Given the description of an element on the screen output the (x, y) to click on. 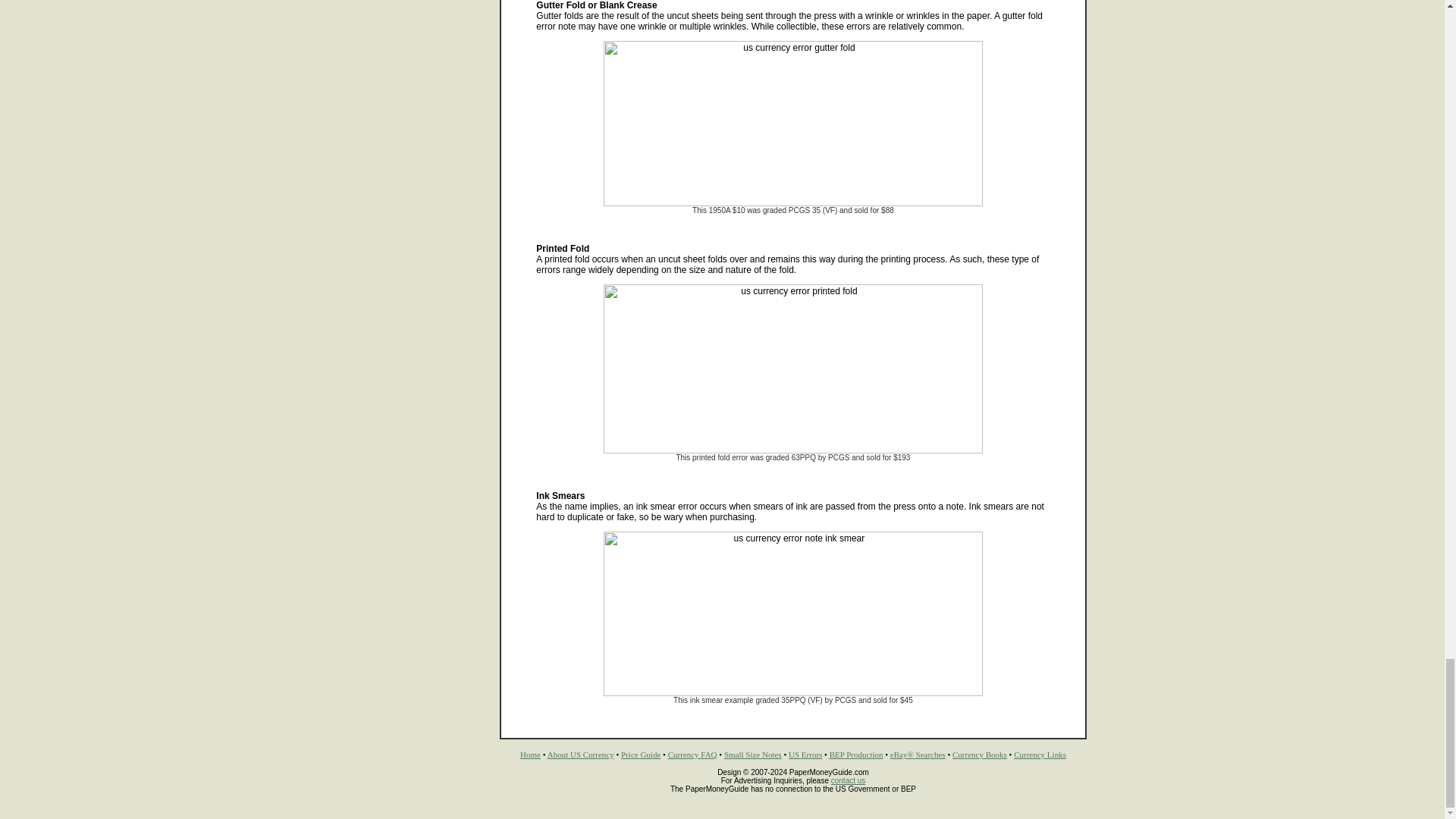
Price Guide (641, 754)
contact us (848, 780)
Currency Books (979, 754)
About US Currency (580, 754)
BEP Production (856, 754)
Home (529, 754)
Small Size Notes (752, 754)
Currency FAQ (692, 754)
US Errors (805, 754)
Currency Links (1039, 754)
